Given the description of an element on the screen output the (x, y) to click on. 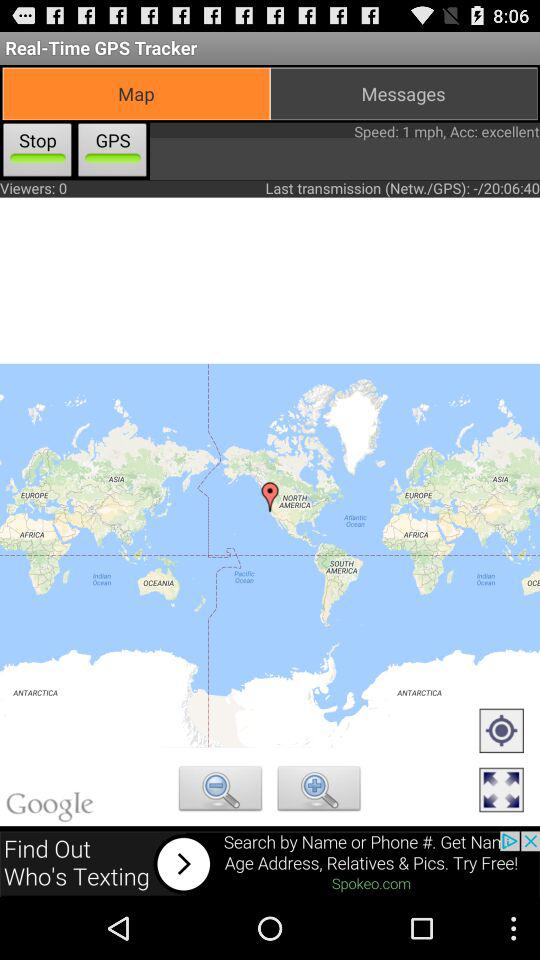
expand symbol (501, 791)
